Given the description of an element on the screen output the (x, y) to click on. 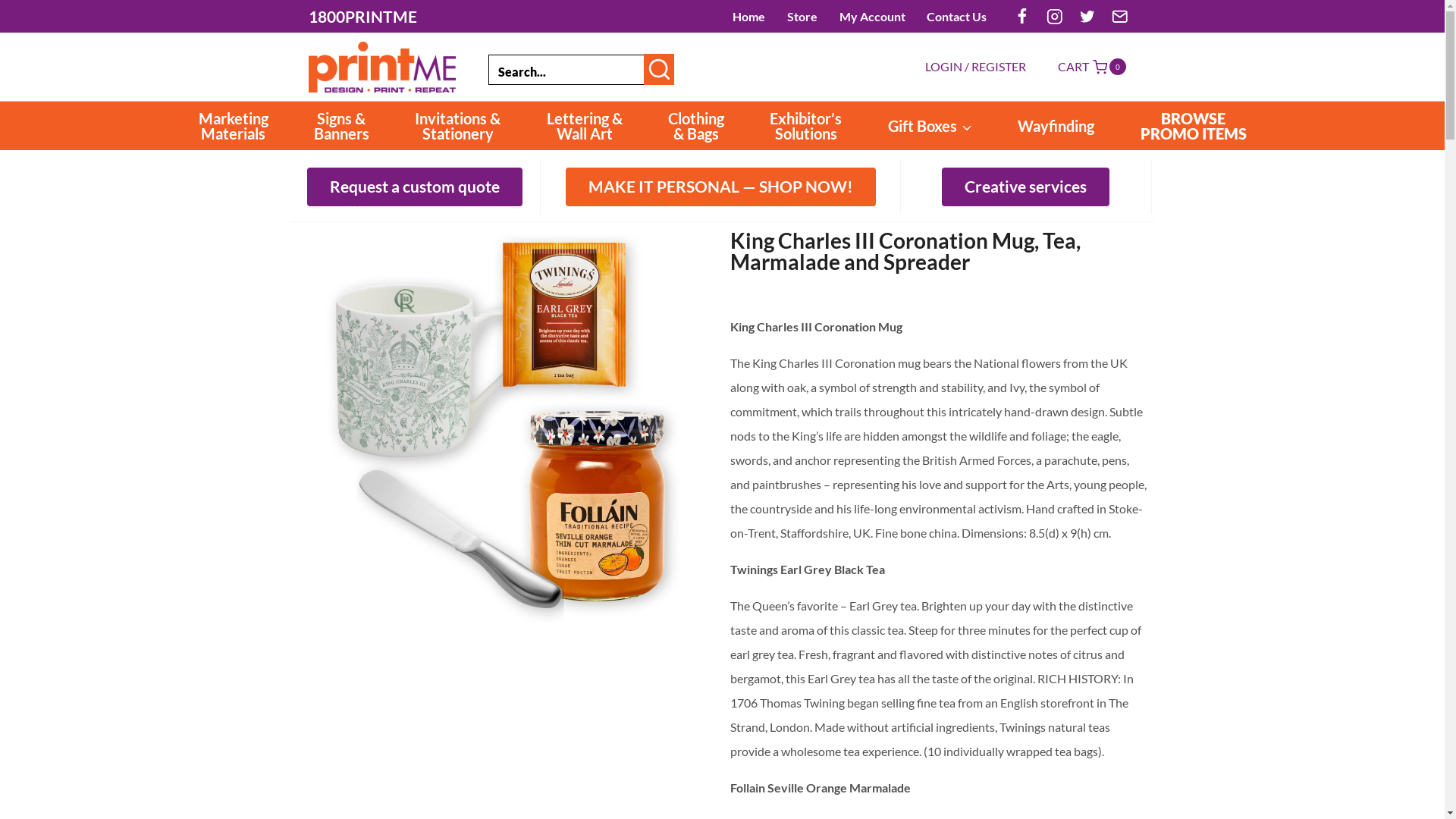
Gift Boxes Element type: text (929, 125)
Store Element type: text (801, 15)
Request a custom quote Element type: text (414, 186)
Marketing
Materials Element type: text (232, 125)
Clothing
& Bags Element type: text (695, 125)
BROWSE
PROMO ITEMS Element type: text (1193, 125)
My Account Element type: text (872, 15)
Lettering &
Wall Art Element type: text (583, 125)
Home Element type: text (748, 15)
Search... Element type: text (566, 66)
LOGIN / REGISTER Element type: text (975, 66)
Creative services Element type: text (1025, 186)
Invitations &
Stationery Element type: text (457, 125)
Wayfinding Element type: text (1055, 125)
CART
0 Element type: text (1090, 66)
Contact Us Element type: text (956, 15)
Signs &
Banners Element type: text (340, 125)
